Given the description of an element on the screen output the (x, y) to click on. 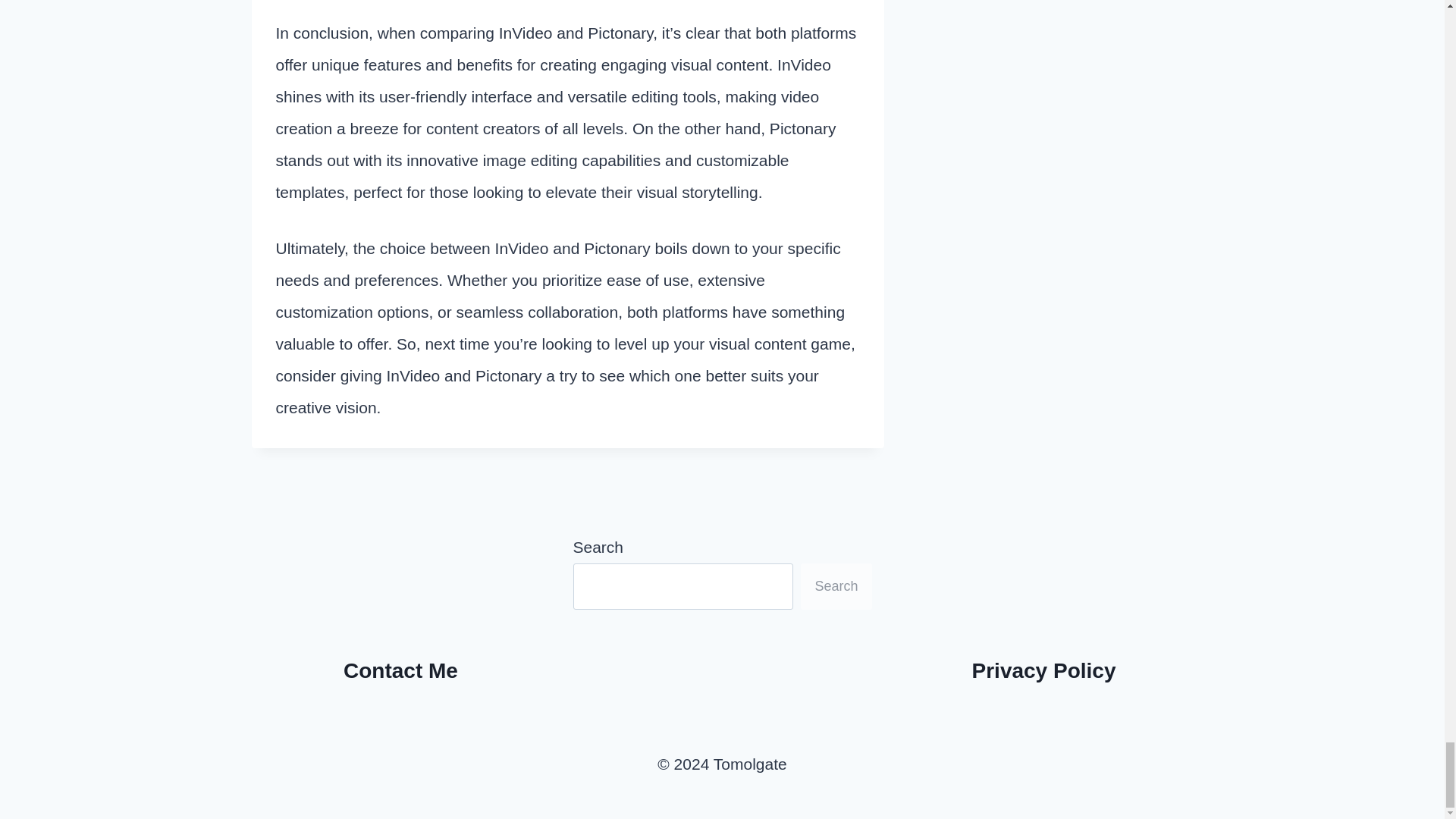
Privacy Policy (1044, 670)
Search (835, 586)
Contact Me (400, 670)
